Given the description of an element on the screen output the (x, y) to click on. 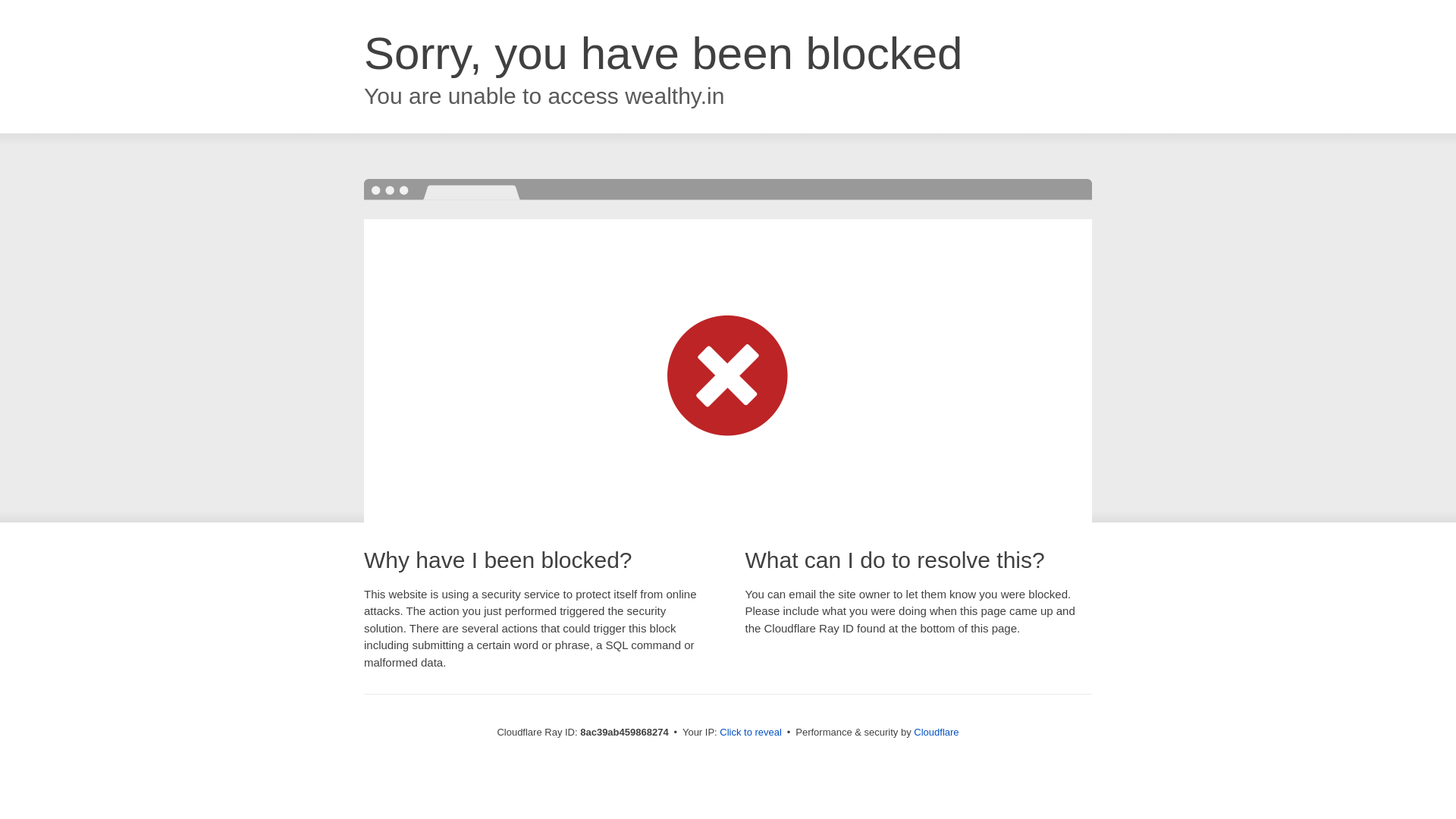
Cloudflare (936, 731)
Click to reveal (750, 732)
